Given the description of an element on the screen output the (x, y) to click on. 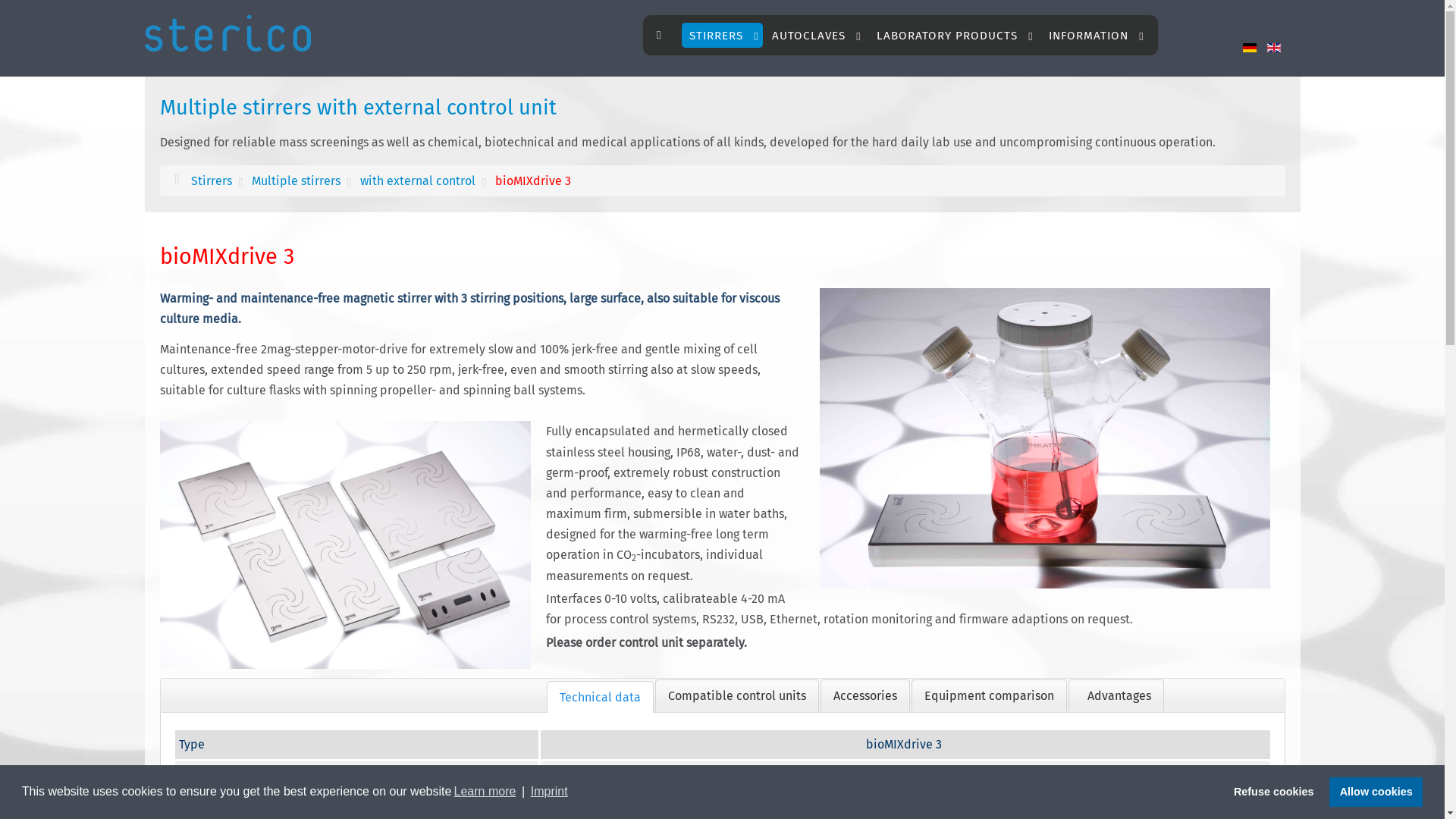
Refuse cookies Element type: text (1273, 791)
LABORATORY PRODUCTS Element type: text (954, 34)
English Element type: hover (1273, 47)
Multiple stirrers Element type: text (295, 181)
  Advantages Element type: text (1116, 695)
Learn more Element type: text (484, 791)
STIRRERS Element type: text (721, 34)
Equipment comparison Element type: text (988, 695)
AUTOCLAVES Element type: text (816, 34)
Compatible control units Element type: text (737, 695)
Technical data Element type: text (599, 696)
Imprint Element type: text (549, 791)
Deutsch Element type: hover (1249, 47)
sterico AG Element type: hover (227, 30)
   Element type: text (664, 35)
Accessories Element type: text (865, 695)
Stirrers Element type: text (211, 181)
with external control Element type: text (416, 181)
INFORMATION Element type: text (1096, 34)
Allow cookies Element type: text (1375, 791)
